Given the description of an element on the screen output the (x, y) to click on. 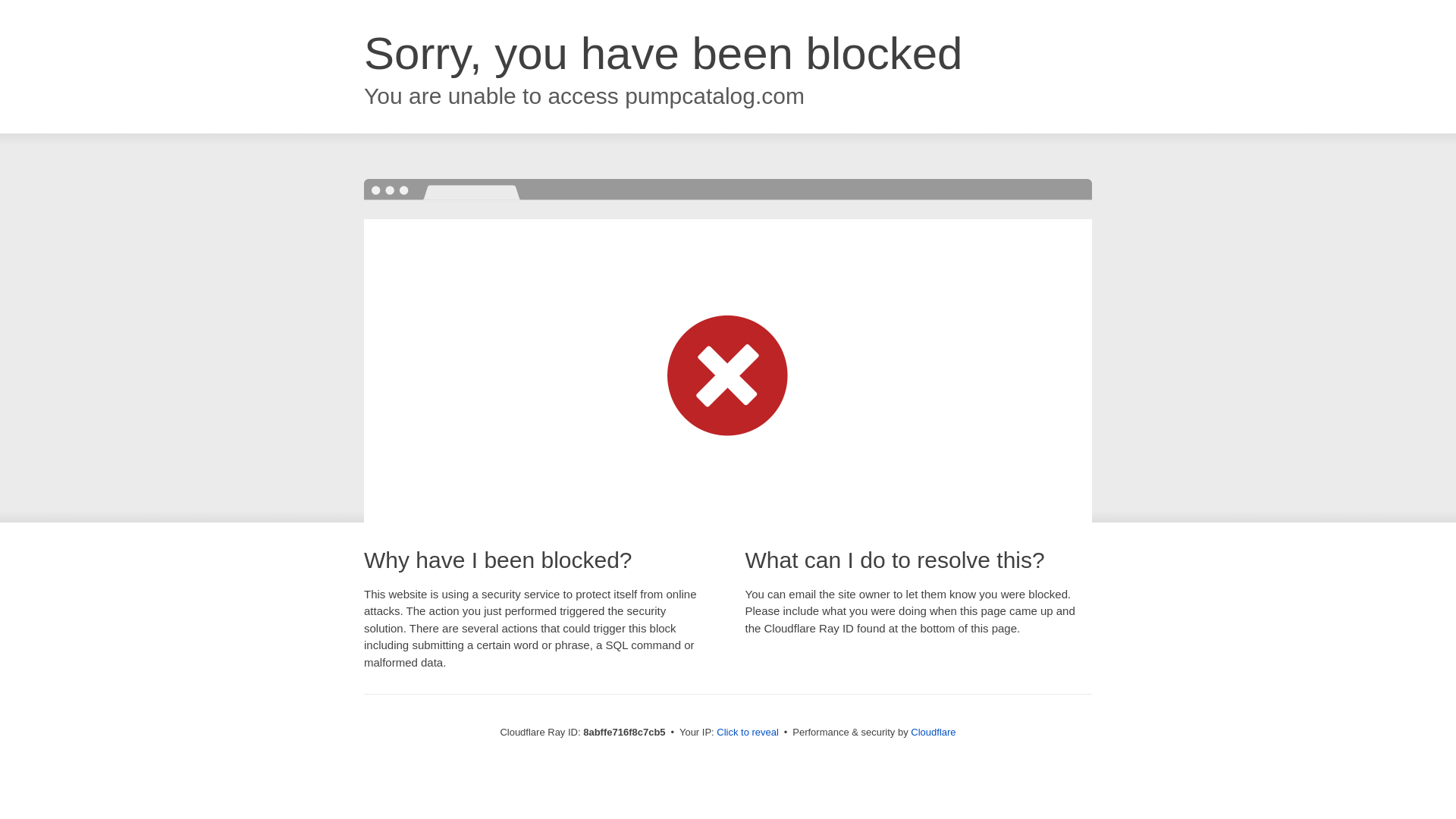
Cloudflare (933, 731)
Click to reveal (747, 732)
